Given the description of an element on the screen output the (x, y) to click on. 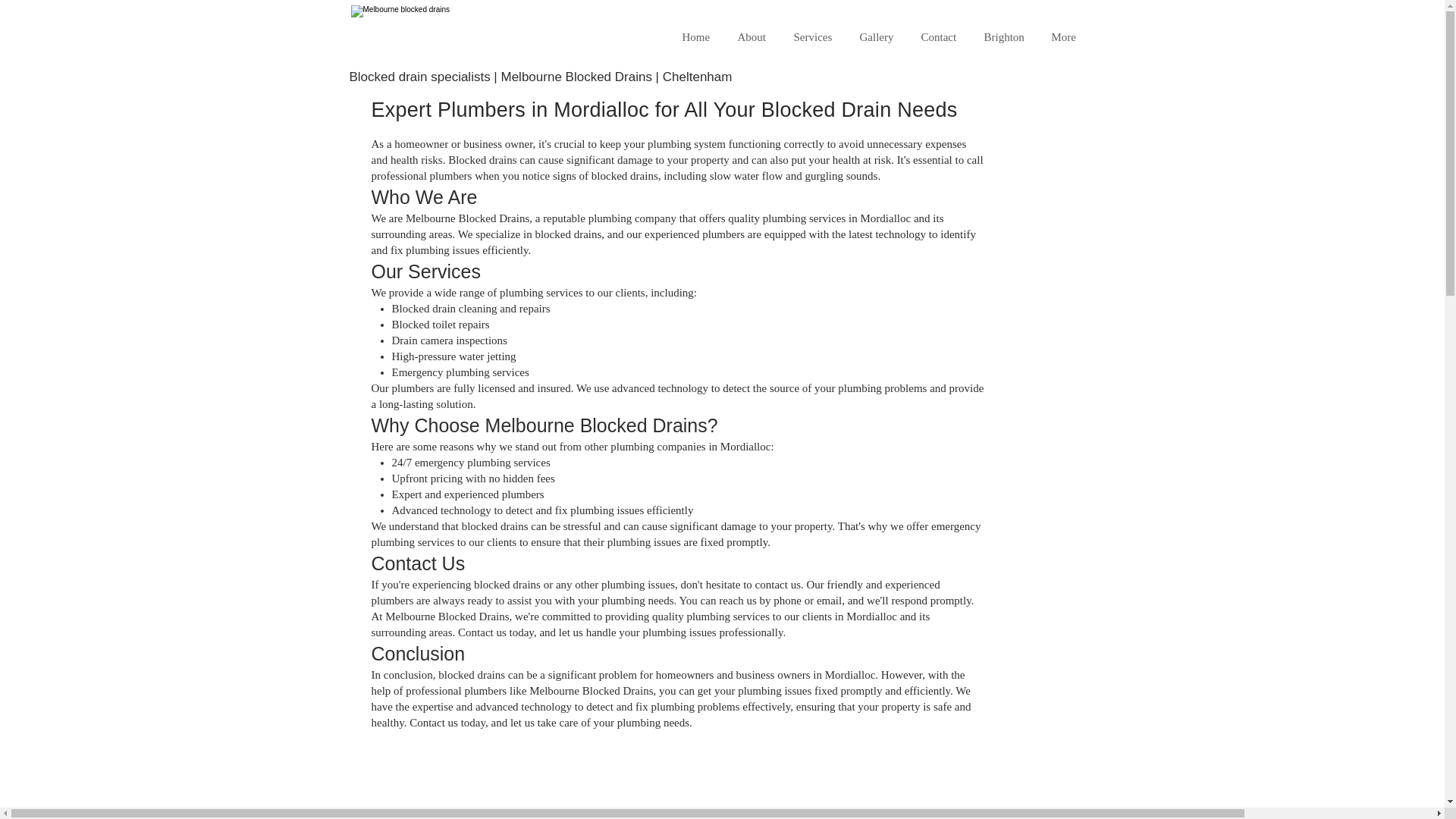
Services (815, 37)
Brighton (1005, 37)
Contact (941, 37)
Gallery (877, 37)
Home (697, 37)
About (754, 37)
